Given the description of an element on the screen output the (x, y) to click on. 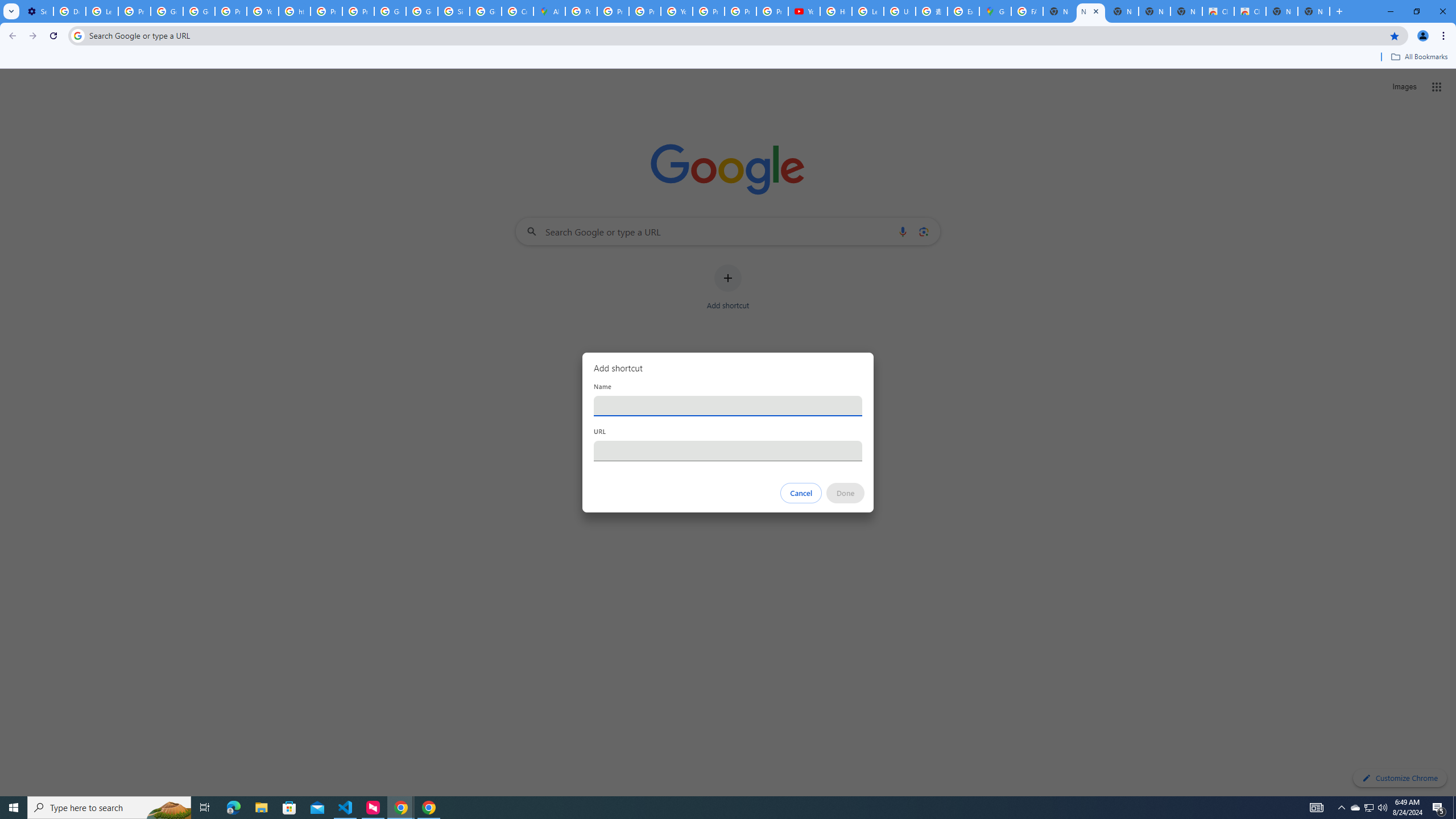
Name (727, 405)
Create your Google Account (517, 11)
New Tab (1313, 11)
URL (727, 450)
Google Account Help (166, 11)
YouTube (804, 11)
YouTube (676, 11)
How Chrome protects your passwords - Google Chrome Help (836, 11)
